Given the description of an element on the screen output the (x, y) to click on. 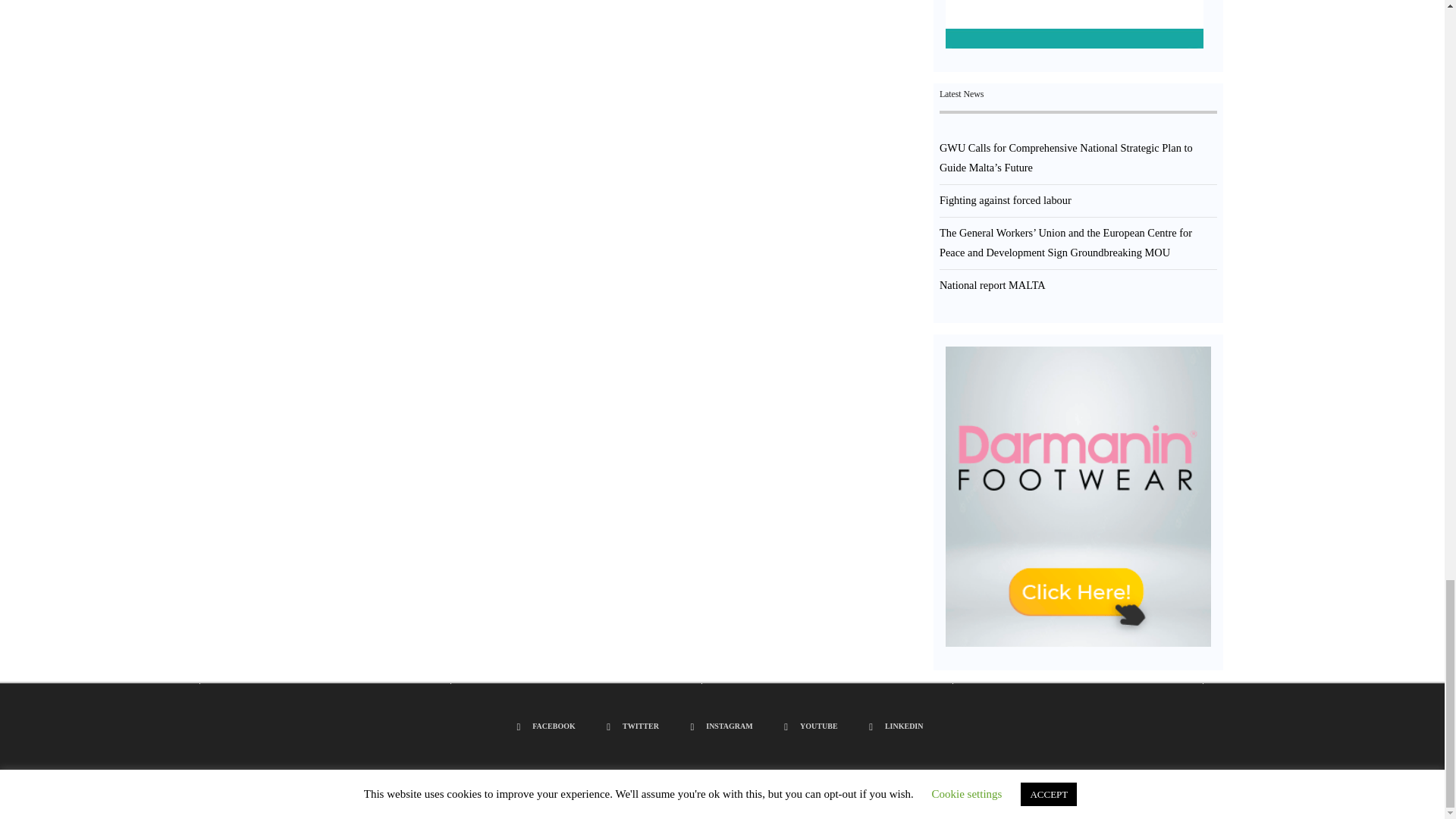
LESA (1074, 24)
Instagram (723, 726)
LinkedIn (898, 726)
Facebook (548, 726)
YouTube (812, 726)
Twitter (634, 726)
